Given the description of an element on the screen output the (x, y) to click on. 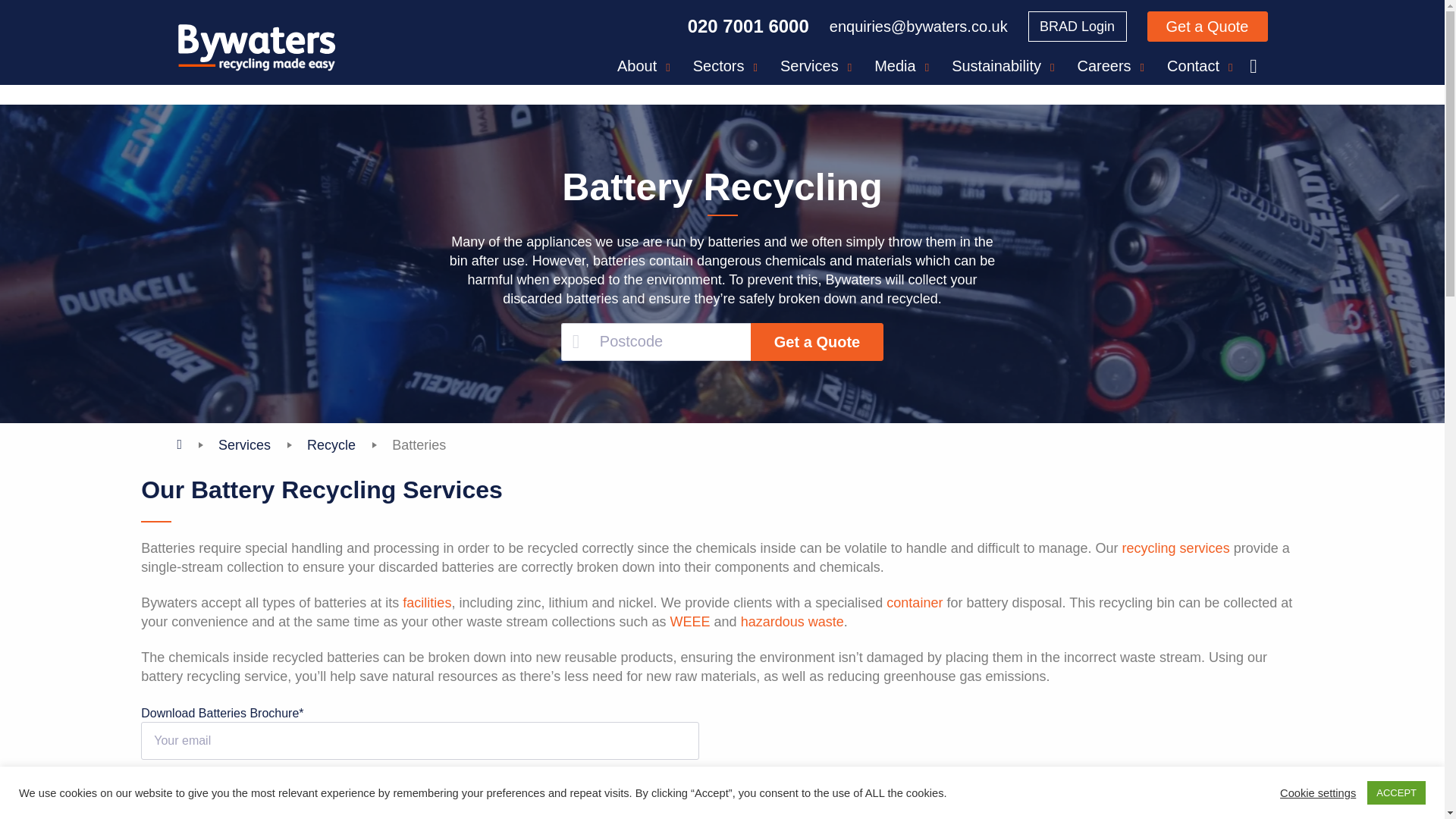
About (643, 65)
Sectors (725, 65)
Get a Quote (1207, 26)
020 7001 6000 (748, 26)
BRAD Login (1076, 26)
Download (193, 812)
Services (815, 65)
